Given the description of an element on the screen output the (x, y) to click on. 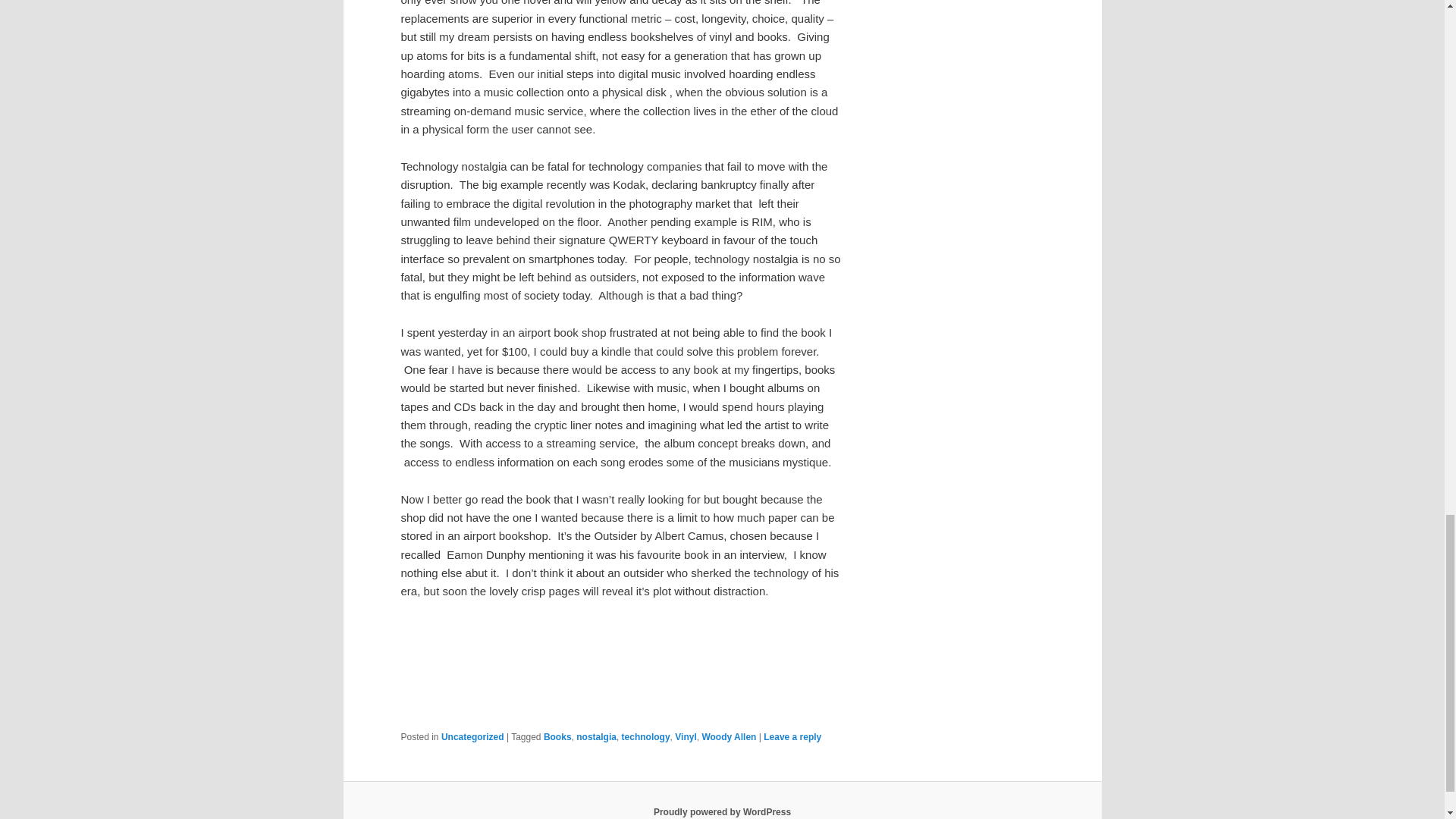
Books (557, 737)
View all posts in Uncategorized (472, 737)
nostalgia (595, 737)
Vinyl (685, 737)
Uncategorized (472, 737)
Comment on On Technology Nostalgia (791, 737)
technology (645, 737)
Leave a reply (791, 737)
Woody Allen (728, 737)
